Given the description of an element on the screen output the (x, y) to click on. 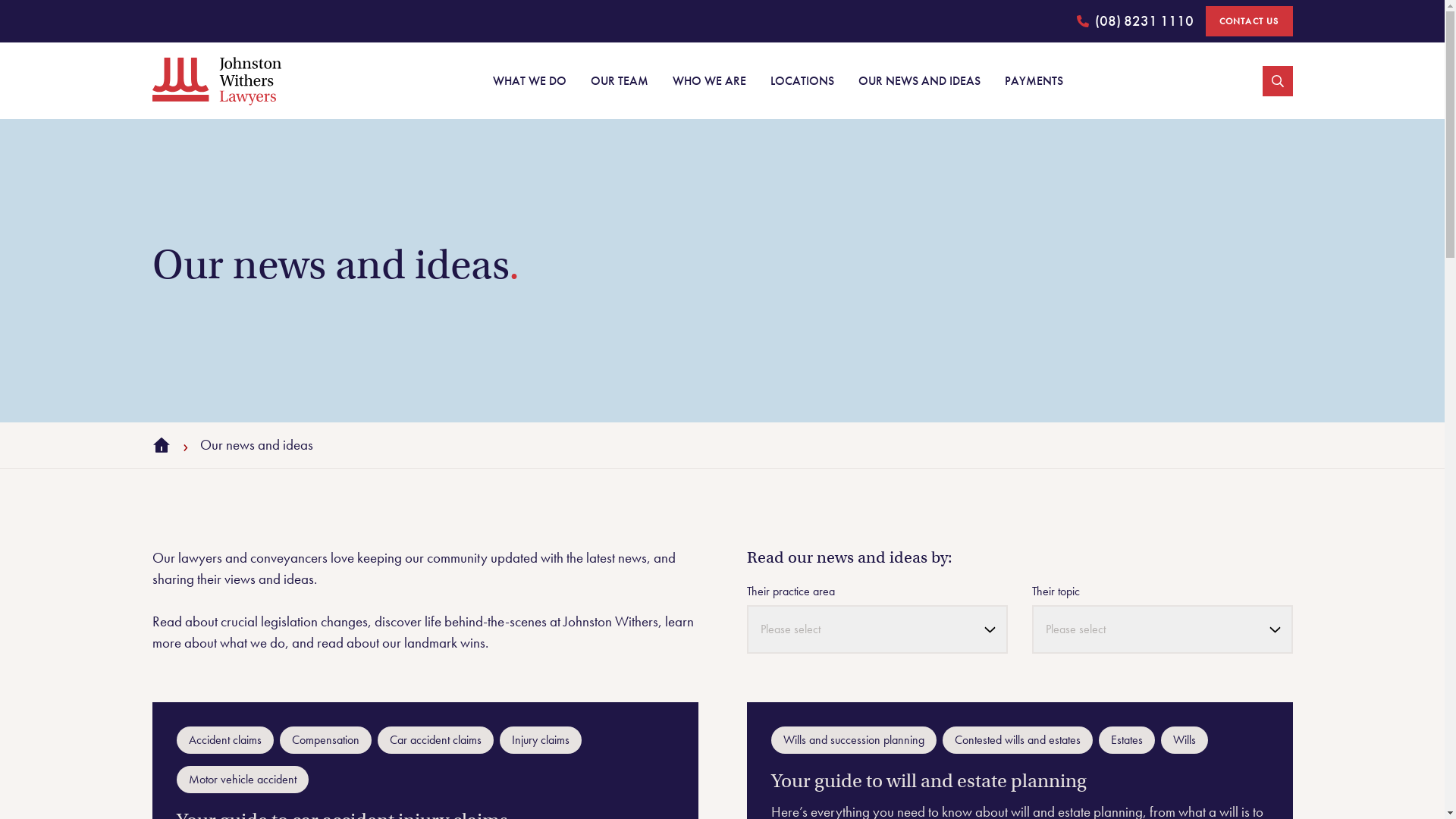
Injury claims Element type: text (539, 739)
Compensation Element type: text (324, 739)
Johnston Withers Element type: text (215, 79)
Our news and ideas Element type: text (256, 444)
Accident claims Element type: text (224, 739)
CONTACT US Element type: text (1248, 21)
Contested wills and estates Element type: text (1016, 739)
Johnston Withers
(08) 8231 1110 Element type: text (1134, 21)
PAYMENTS Element type: text (1033, 80)
Estates Element type: text (1126, 739)
Wills Element type: text (1183, 739)
Motor vehicle accident Element type: text (241, 779)
Wills and succession planning Element type: text (852, 739)
Car accident claims Element type: text (435, 739)
OUR TEAM Element type: text (618, 80)
